Given the description of an element on the screen output the (x, y) to click on. 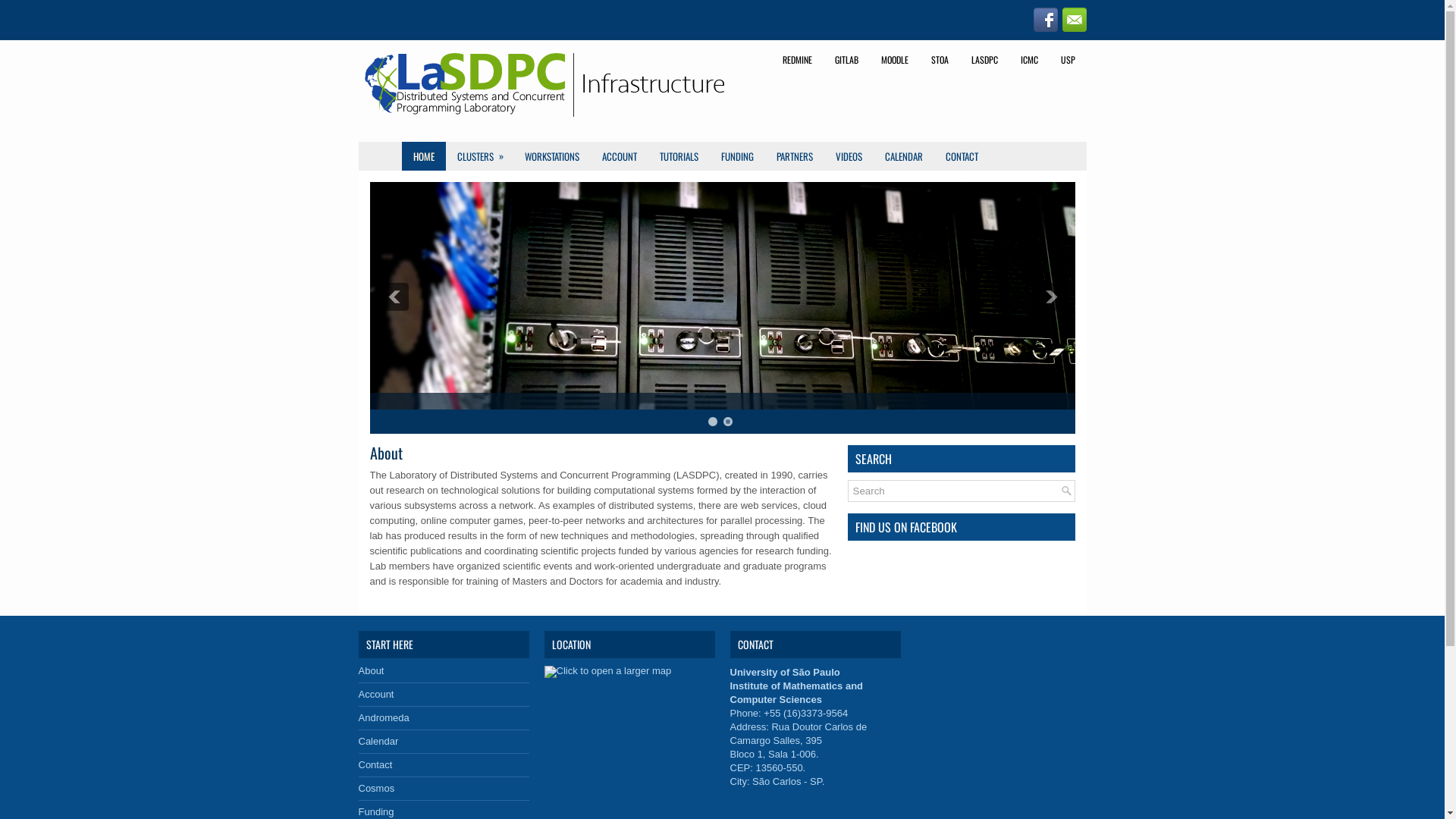
FUNDING Element type: text (737, 155)
Contact Element type: text (374, 764)
Account Element type: text (375, 693)
ICMC Element type: text (1028, 59)
Andromeda Element type: text (382, 717)
Cosmos Element type: text (375, 787)
VIDEOS Element type: text (847, 155)
Funding Element type: text (375, 811)
1 Element type: text (712, 421)
PARTNERS Element type: text (793, 155)
Facebook Element type: hover (1044, 19)
Type and hit enter Element type: hover (961, 491)
TUTORIALS Element type: text (678, 155)
STOA Element type: text (939, 59)
LASDPC Element type: text (984, 59)
CONTACT Element type: text (961, 155)
Infrastructure Element type: hover (543, 83)
MOODLE Element type: text (894, 59)
Click to open a larger map Element type: hover (607, 671)
About Element type: text (370, 670)
CALENDAR Element type: text (903, 155)
REDMINE Element type: text (796, 59)
GITLAB Element type: text (846, 59)
ACCOUNT Element type: text (618, 155)
USP Element type: text (1067, 59)
HOME Element type: text (423, 155)
Email Element type: hover (1073, 19)
WORKSTATIONS Element type: text (550, 155)
Click to open a larger map Element type: hover (607, 670)
Calendar Element type: text (377, 740)
2 Element type: text (727, 421)
